Given the description of an element on the screen output the (x, y) to click on. 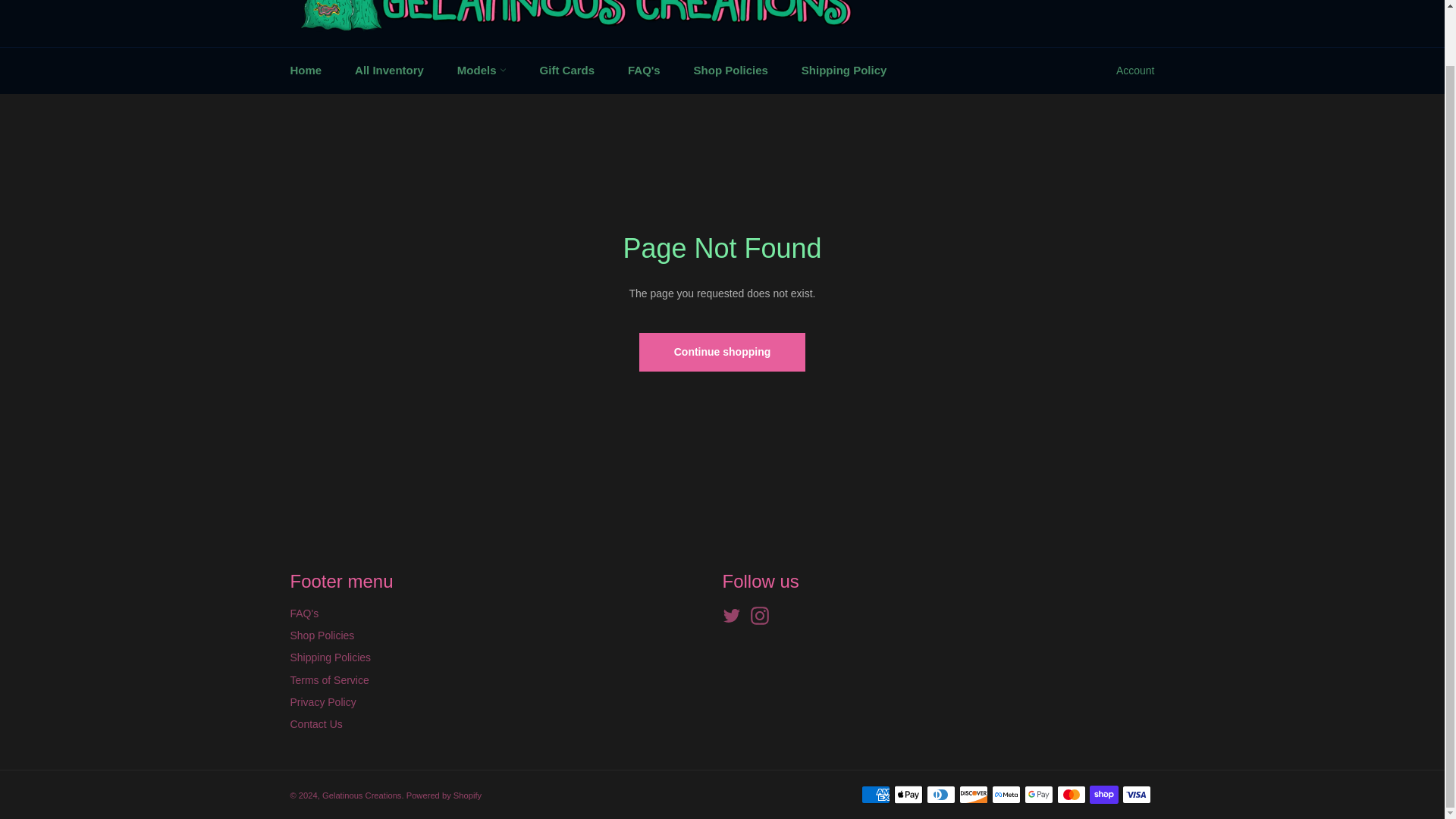
Cart (1138, 5)
All Inventory (389, 70)
Home (305, 70)
Gelatinous Creations on Instagram (763, 615)
Models (481, 70)
Gelatinous Creations on Twitter (735, 615)
Search (1104, 4)
